Given the description of an element on the screen output the (x, y) to click on. 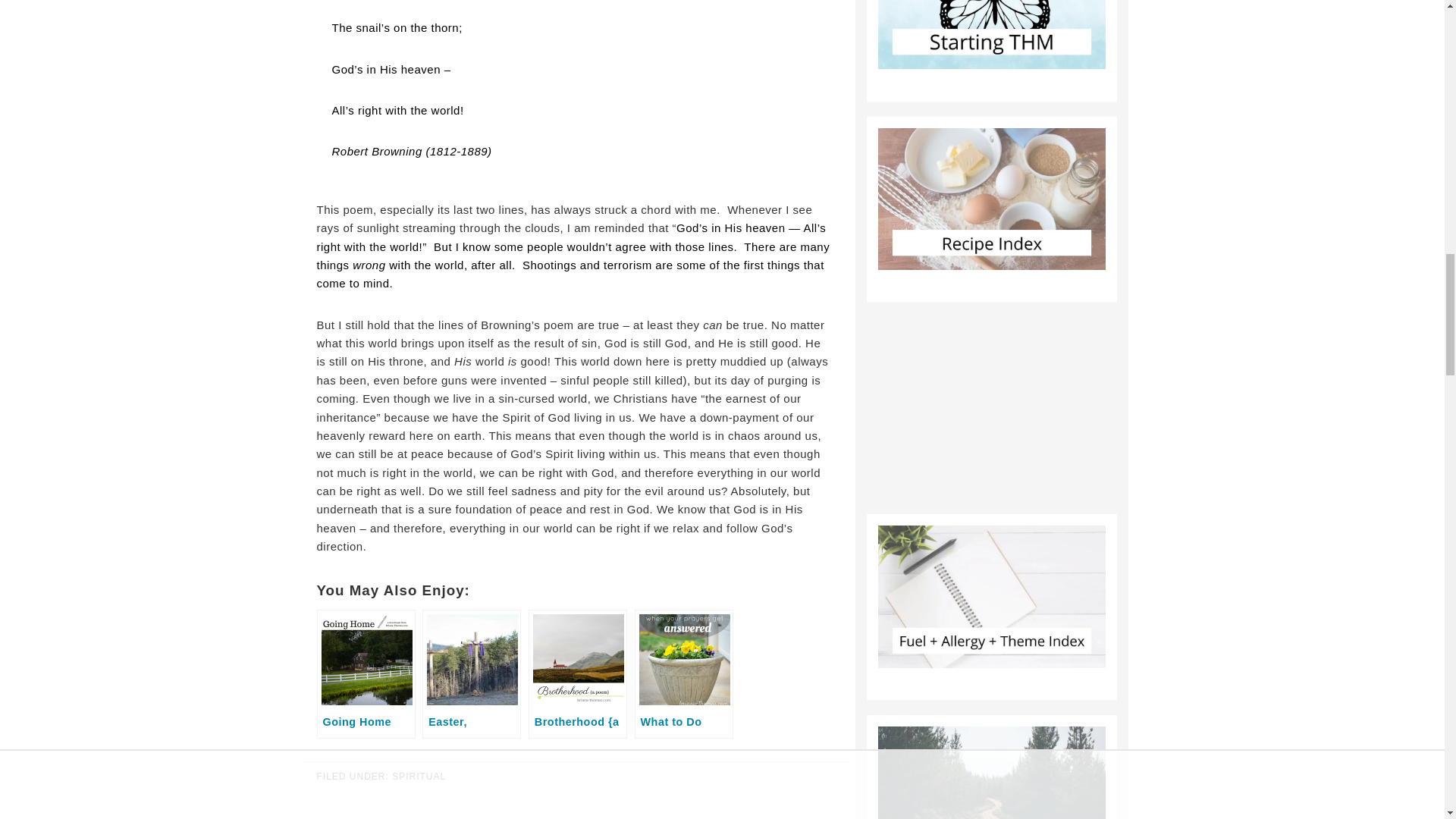
SPIRITUAL (418, 776)
